Given the description of an element on the screen output the (x, y) to click on. 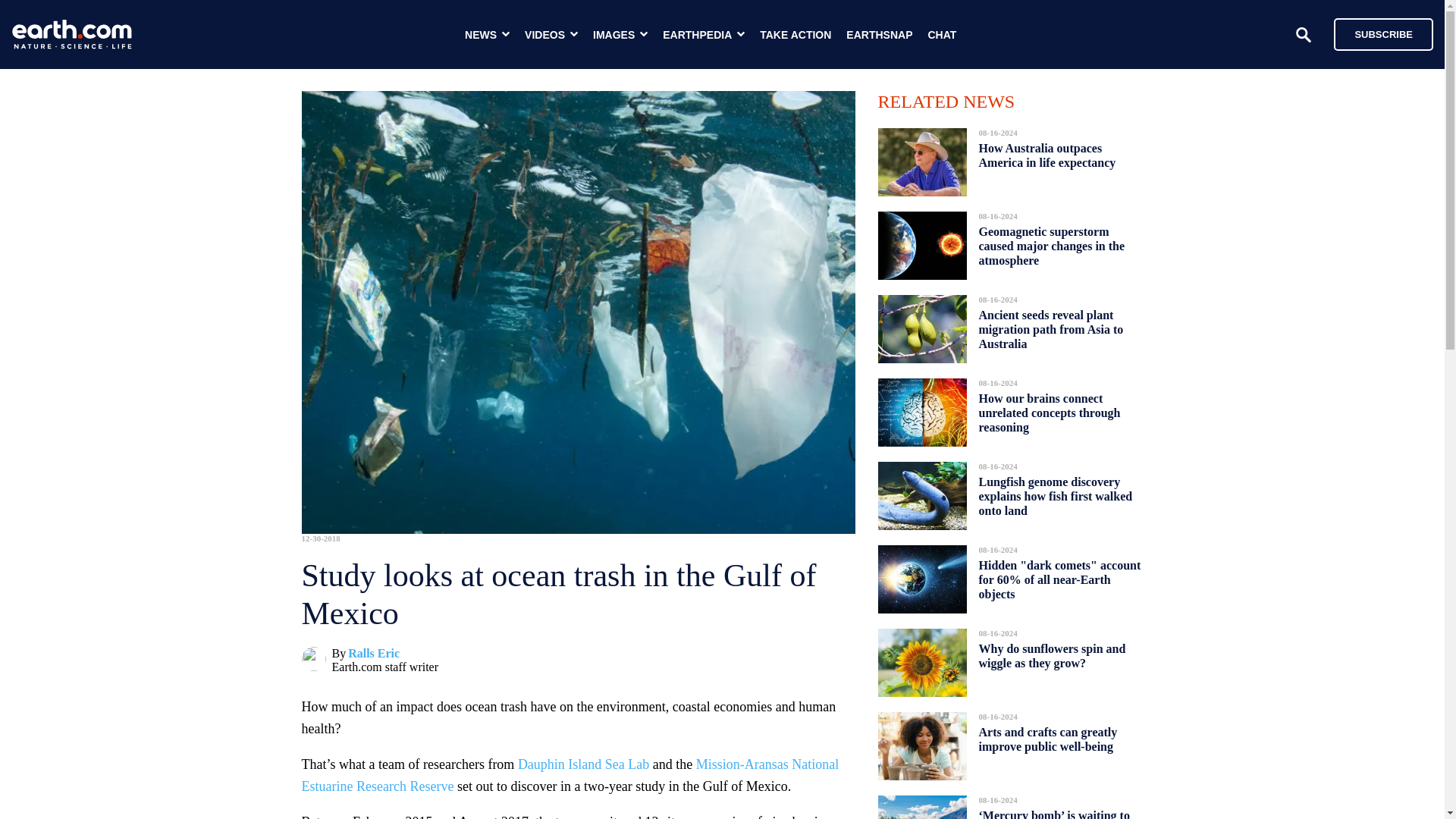
How Australia outpaces America in life expectancy (1046, 155)
EARTHSNAP (878, 34)
Ralls Eric (372, 653)
How our brains connect unrelated concepts through reasoning (1048, 412)
Dauphin Island Sea Lab (583, 764)
Arts and crafts can greatly improve public well-being (1047, 739)
SUBSCRIBE (1382, 34)
SUBSCRIBE (1375, 33)
